Given the description of an element on the screen output the (x, y) to click on. 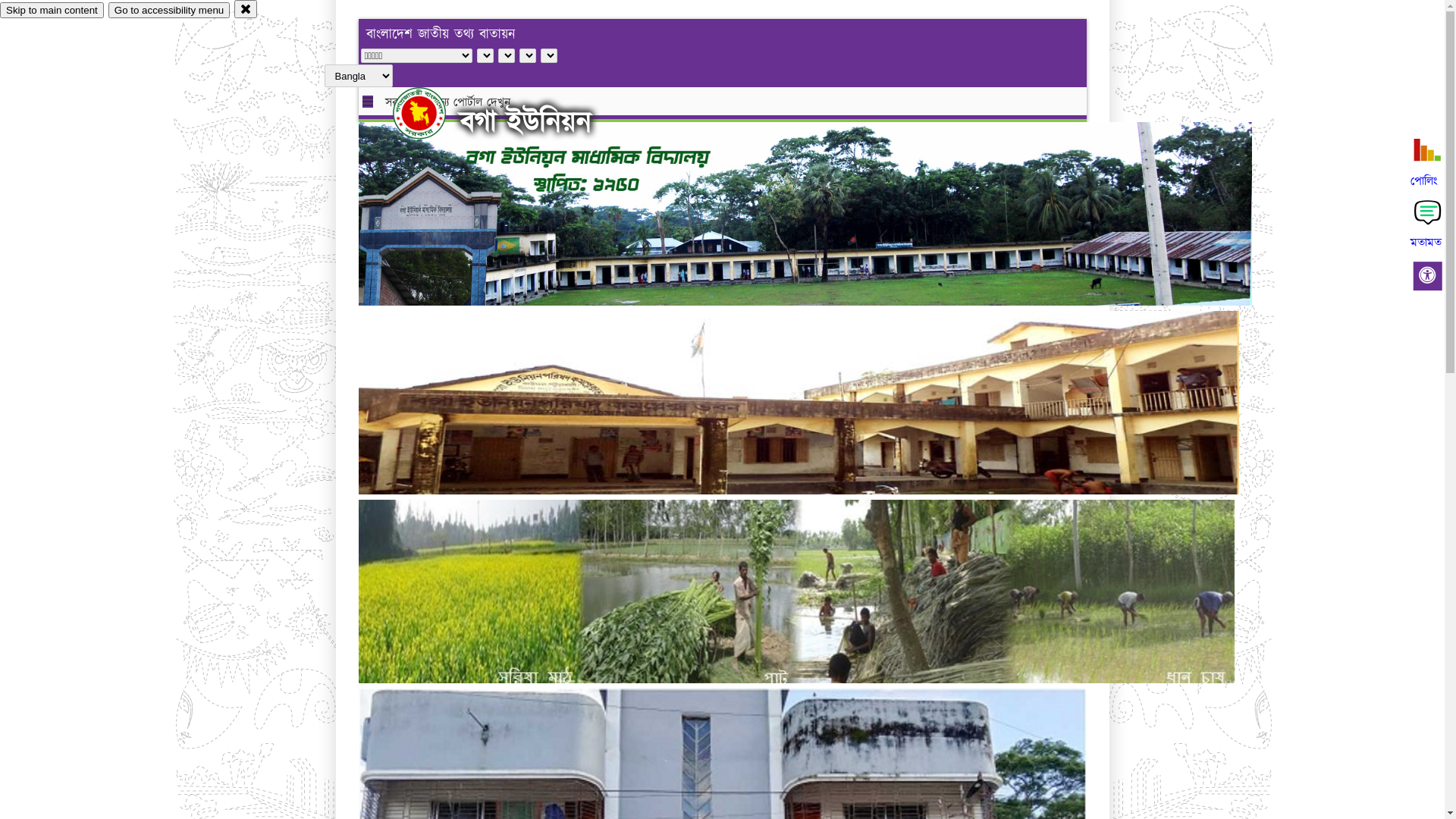
Skip to main content Element type: text (51, 10)
close Element type: hover (245, 9)
Go to accessibility menu Element type: text (168, 10)

                
             Element type: hover (431, 112)
